Given the description of an element on the screen output the (x, y) to click on. 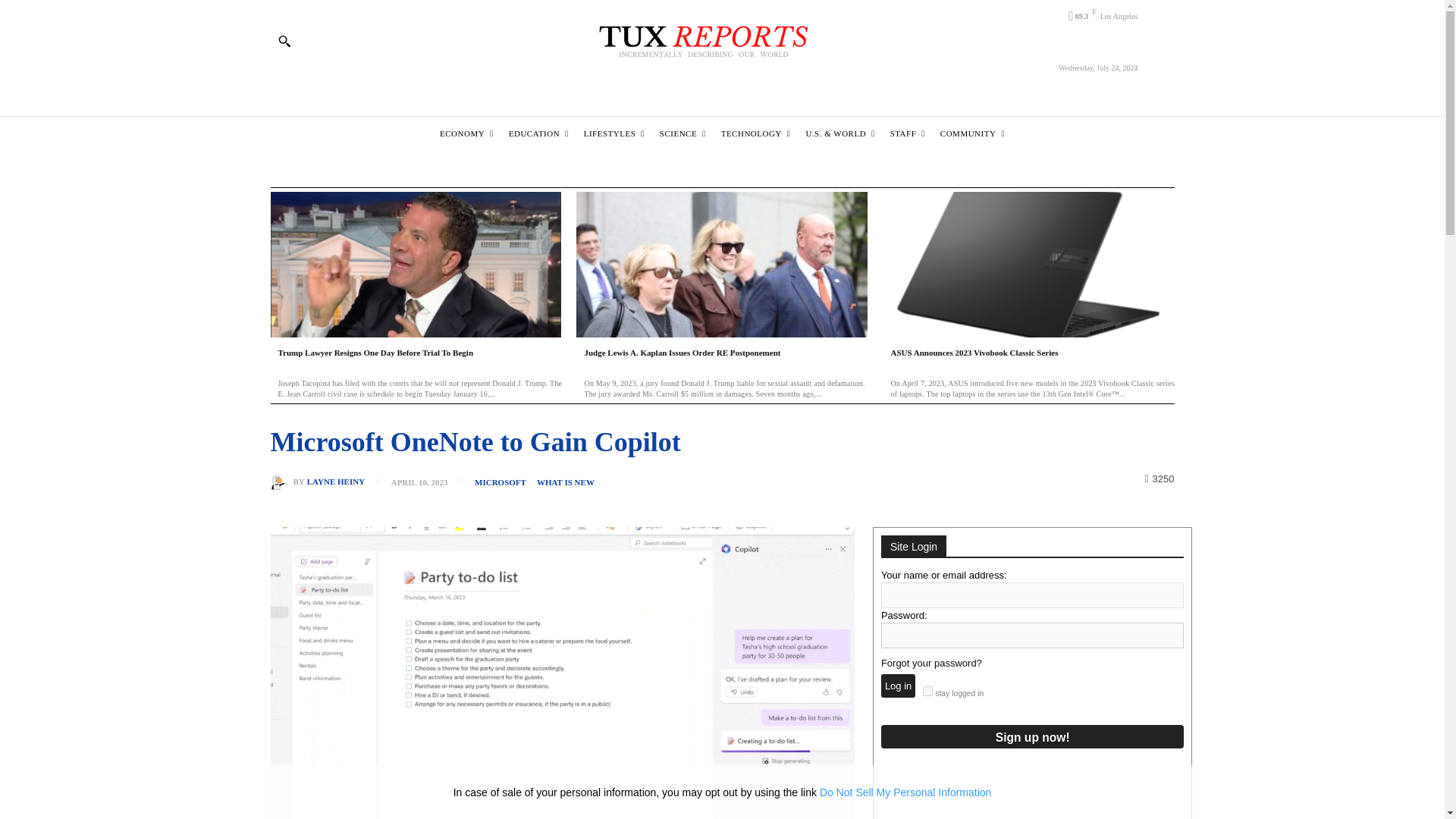
Log in (897, 685)
Education (538, 133)
1 (928, 691)
Economy (466, 133)
